Given the description of an element on the screen output the (x, y) to click on. 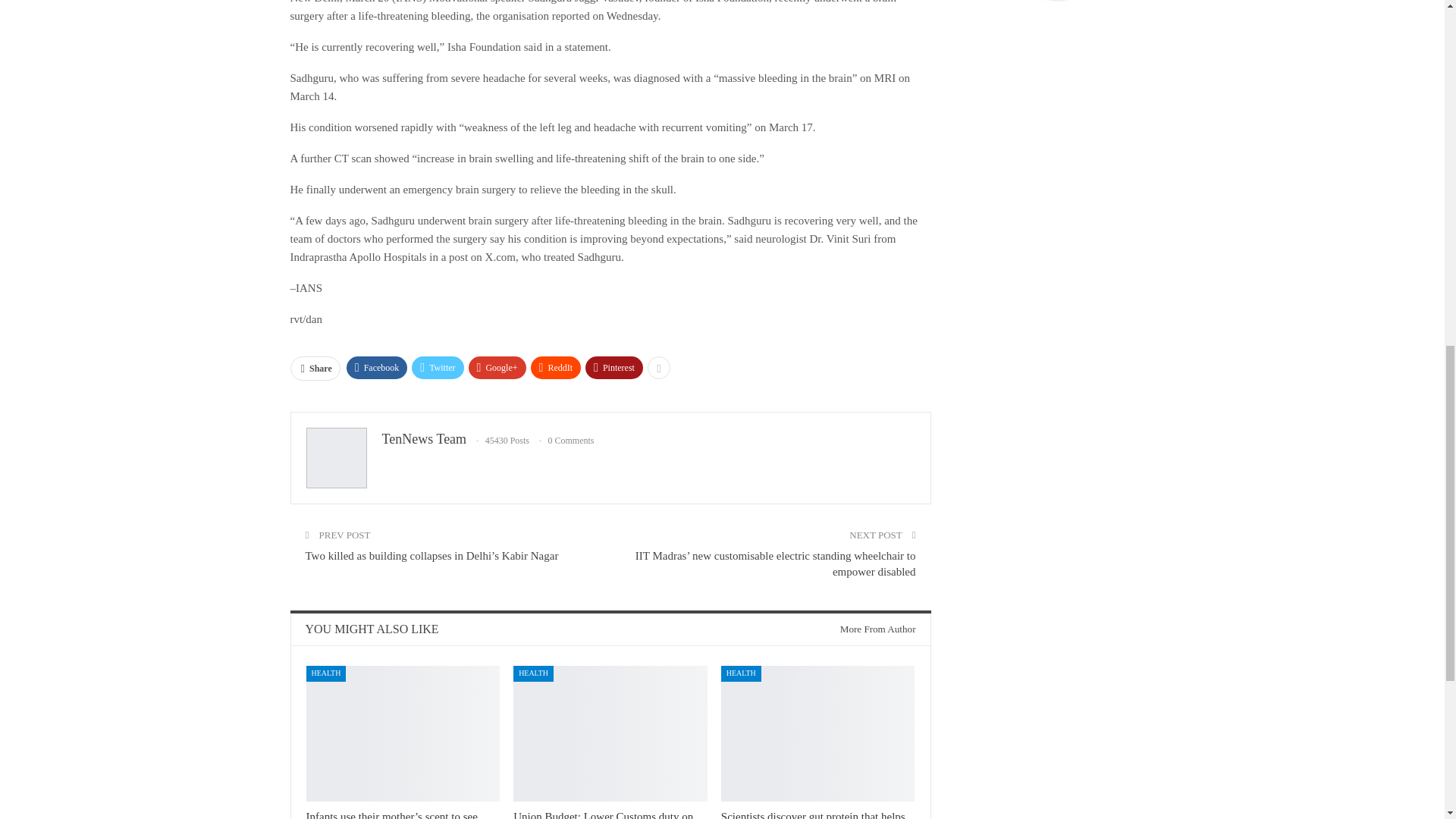
Facebook (376, 367)
